Given the description of an element on the screen output the (x, y) to click on. 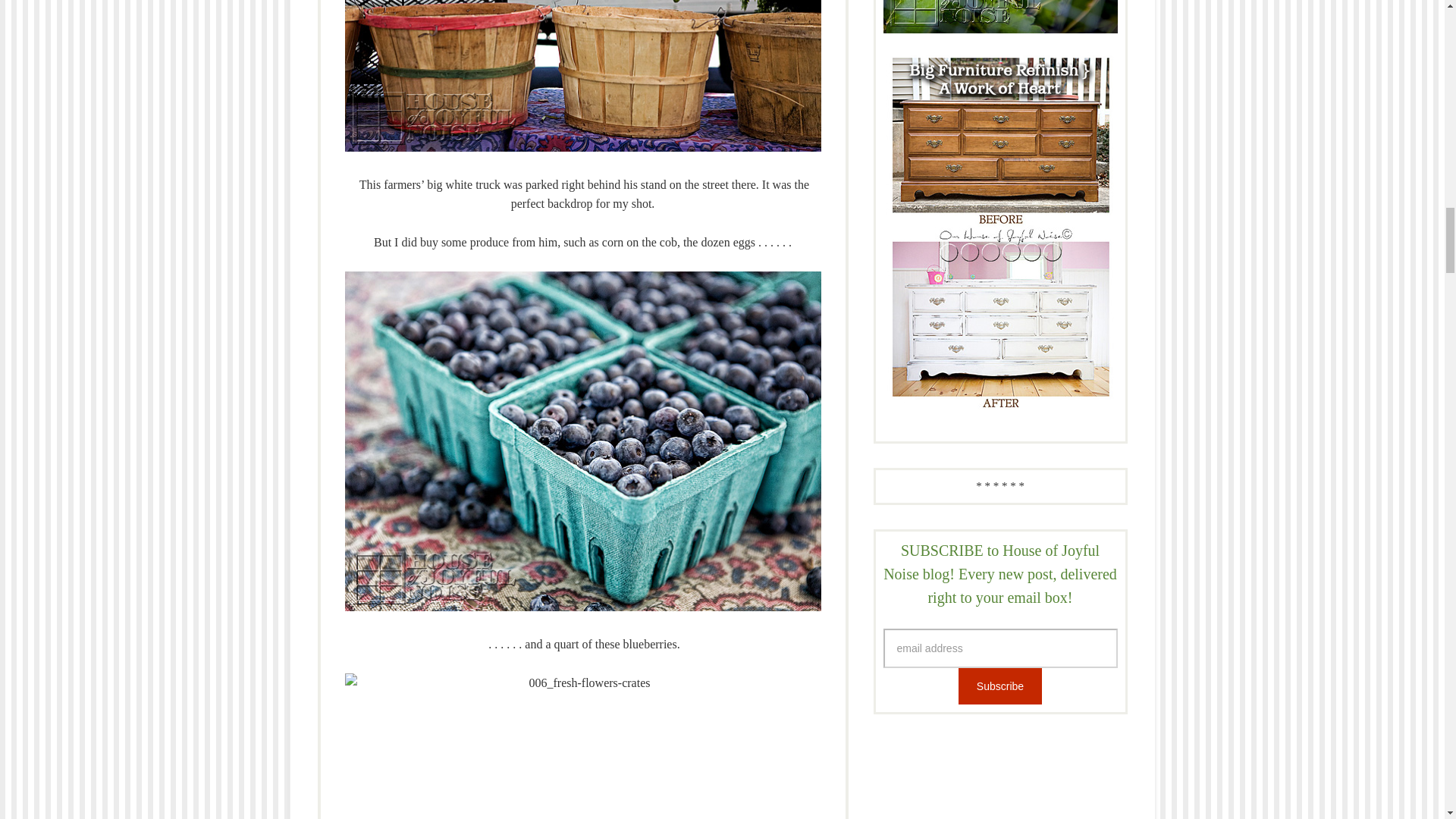
Subscribe (1000, 686)
